Given the description of an element on the screen output the (x, y) to click on. 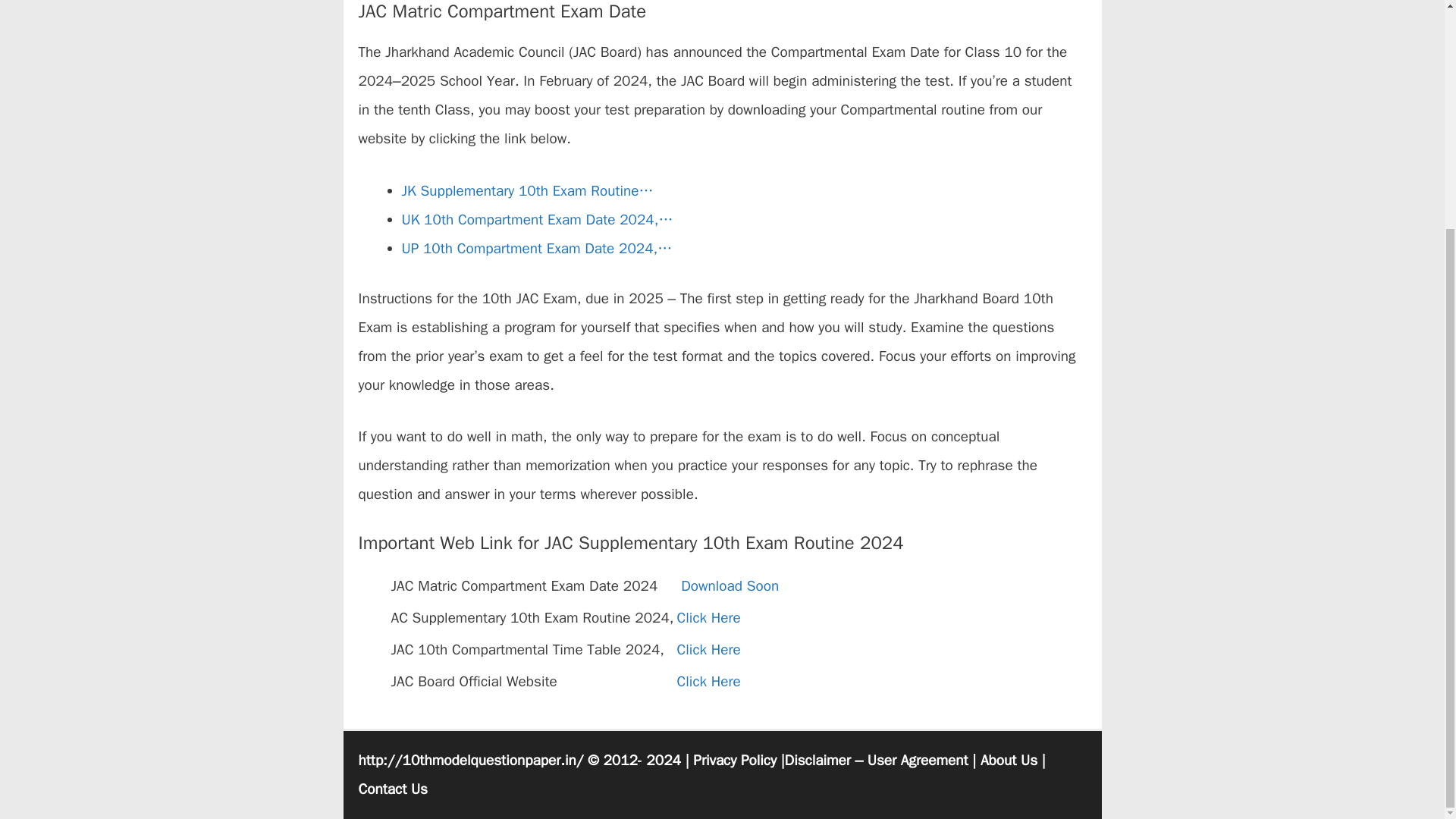
Click Here (709, 681)
Click Here (709, 618)
Download Soon (729, 586)
Contact Us (392, 789)
Privacy Policy (734, 760)
Click Here (709, 649)
About Us (1007, 760)
